Given the description of an element on the screen output the (x, y) to click on. 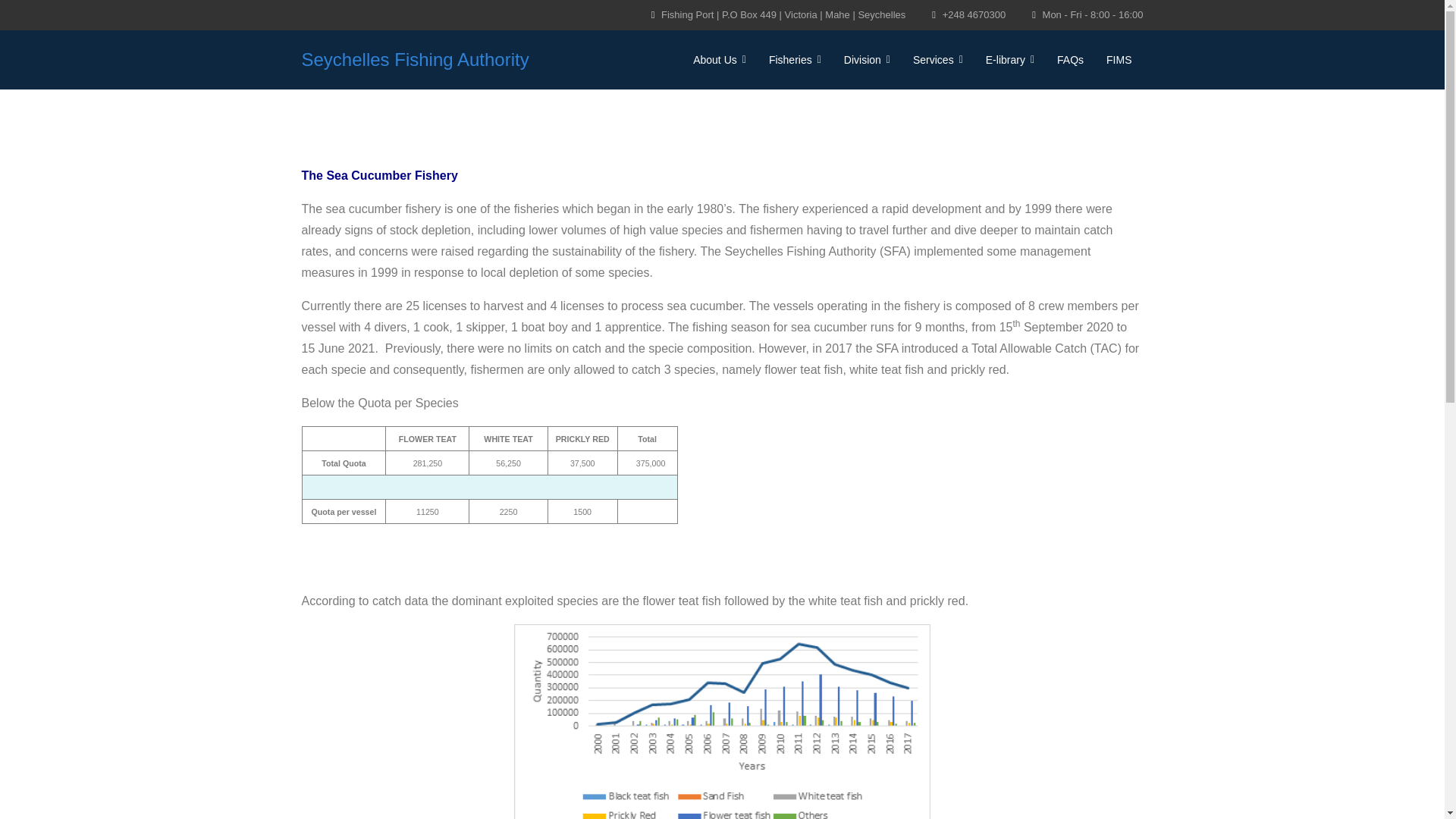
Seychelles Fishing Authority (415, 59)
About Us (719, 59)
Services (937, 59)
Fisheries (794, 59)
FAQs (1069, 59)
Division (866, 59)
E-library (1009, 59)
